Given the description of an element on the screen output the (x, y) to click on. 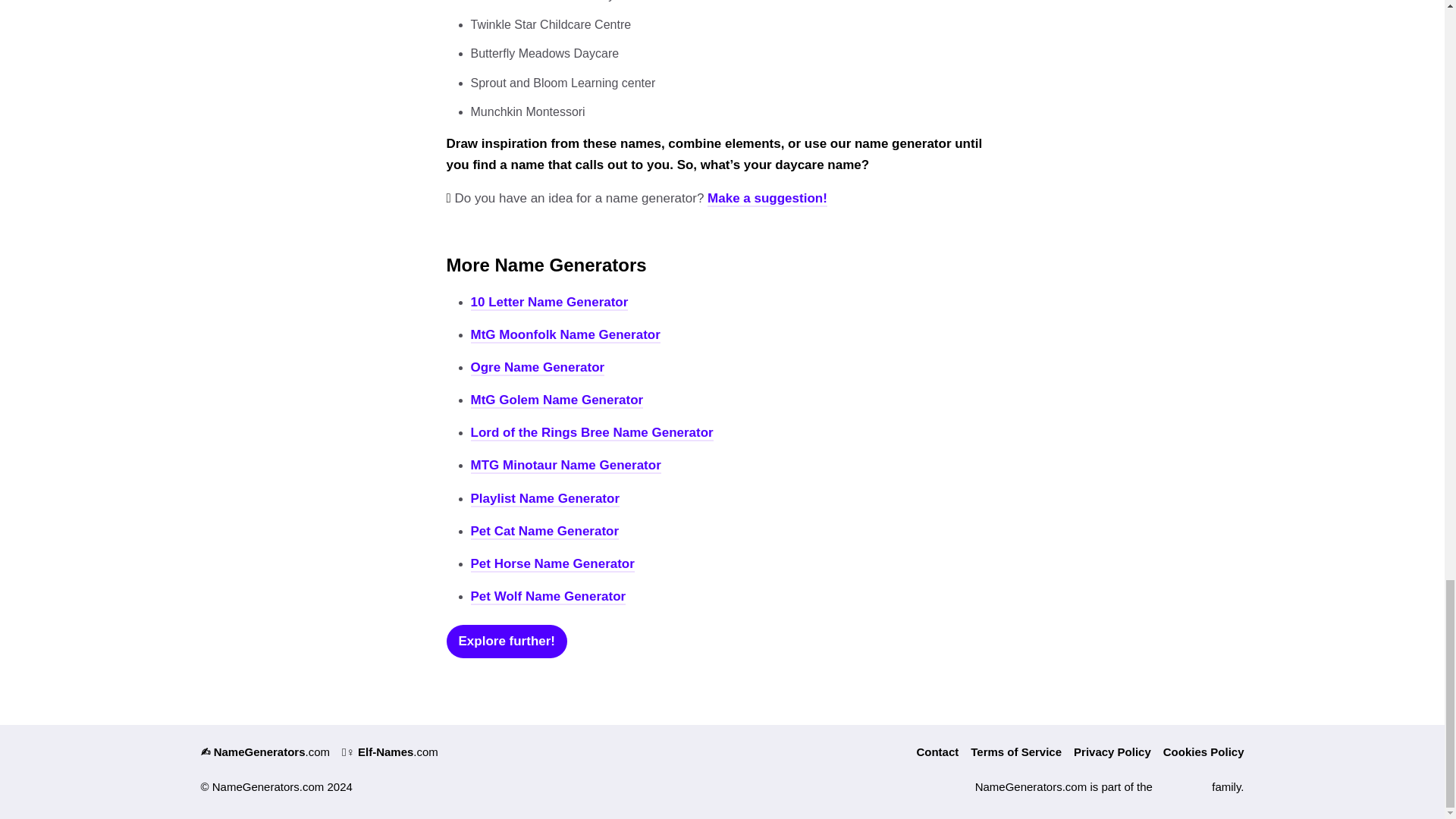
10 Letter Name Generator (548, 302)
Pet Wolf Name Generator (548, 596)
Pet Cat Name Generator (544, 531)
MtG Golem Name Generator (556, 400)
Lord of the Rings Bree Name Generator (591, 433)
Pet Horse Name Generator (551, 564)
Ogre Name Generator (537, 367)
MTG Minotaur Name Generator (565, 465)
Playlist Name Generator (545, 498)
Explore further! (506, 640)
